Given the description of an element on the screen output the (x, y) to click on. 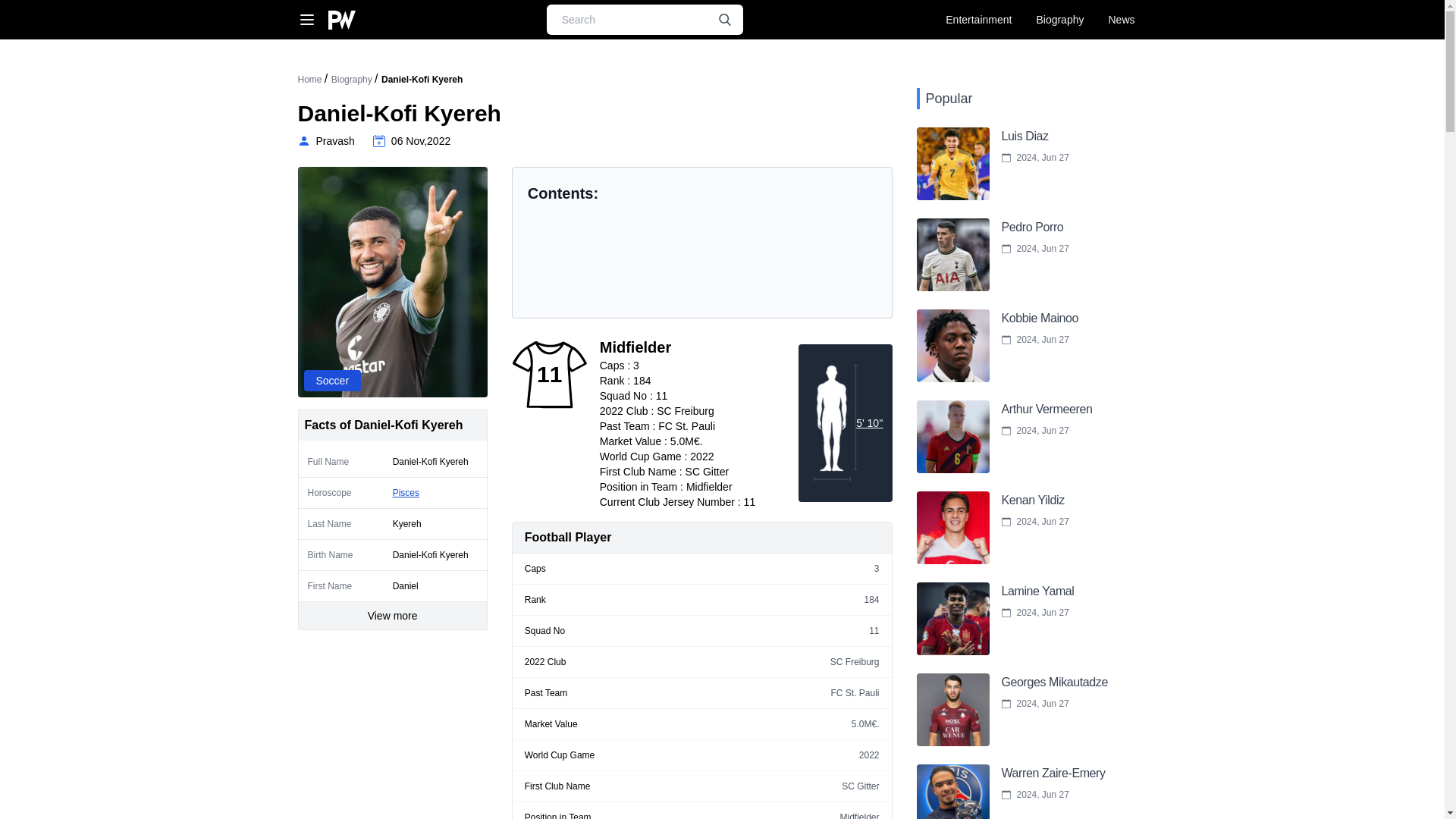
Home (310, 79)
news (1010, 163)
entertainment (1121, 19)
News (978, 19)
Luis Diaz (1121, 19)
Pravash (1010, 163)
Soccer (325, 140)
5' 10'' (331, 380)
home (869, 422)
